Given the description of an element on the screen output the (x, y) to click on. 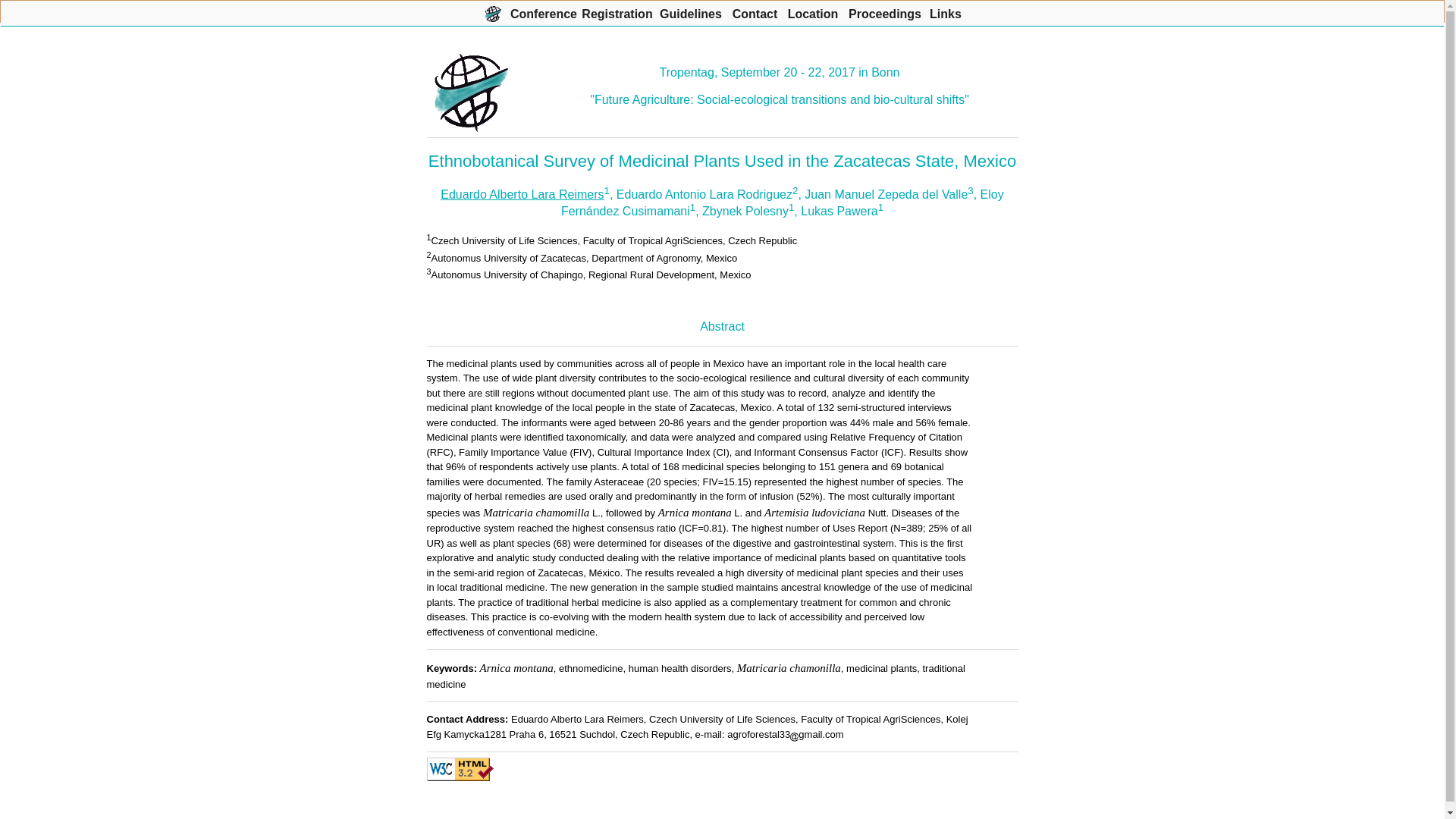
Proceedings (885, 11)
Tropentag 2024 (493, 11)
Location (813, 11)
Registration (616, 11)
Contact (754, 11)
Links (944, 11)
Conference (542, 11)
Guidelines (689, 11)
